Given the description of an element on the screen output the (x, y) to click on. 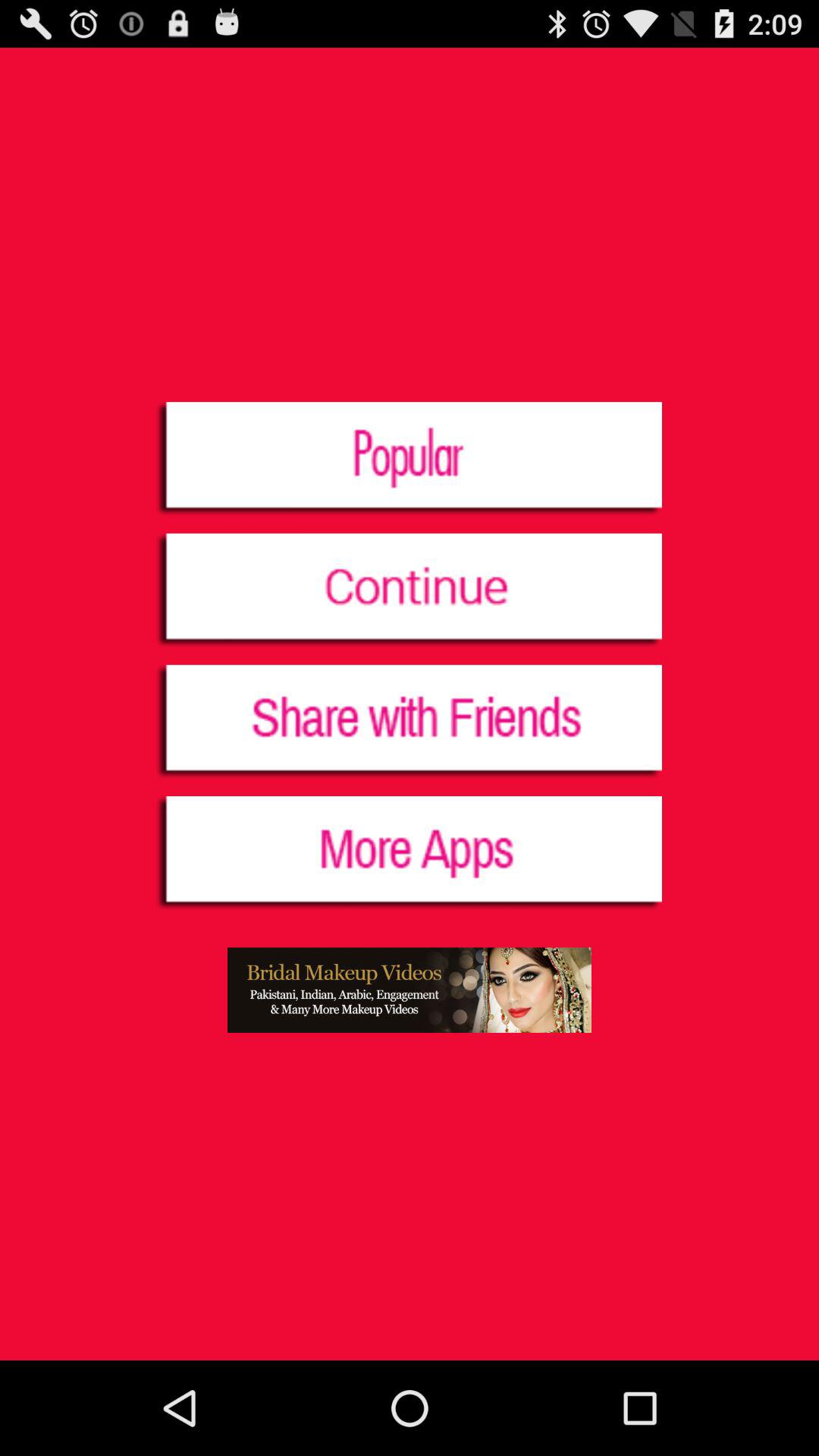
press the icon at the top (409, 459)
